Given the description of an element on the screen output the (x, y) to click on. 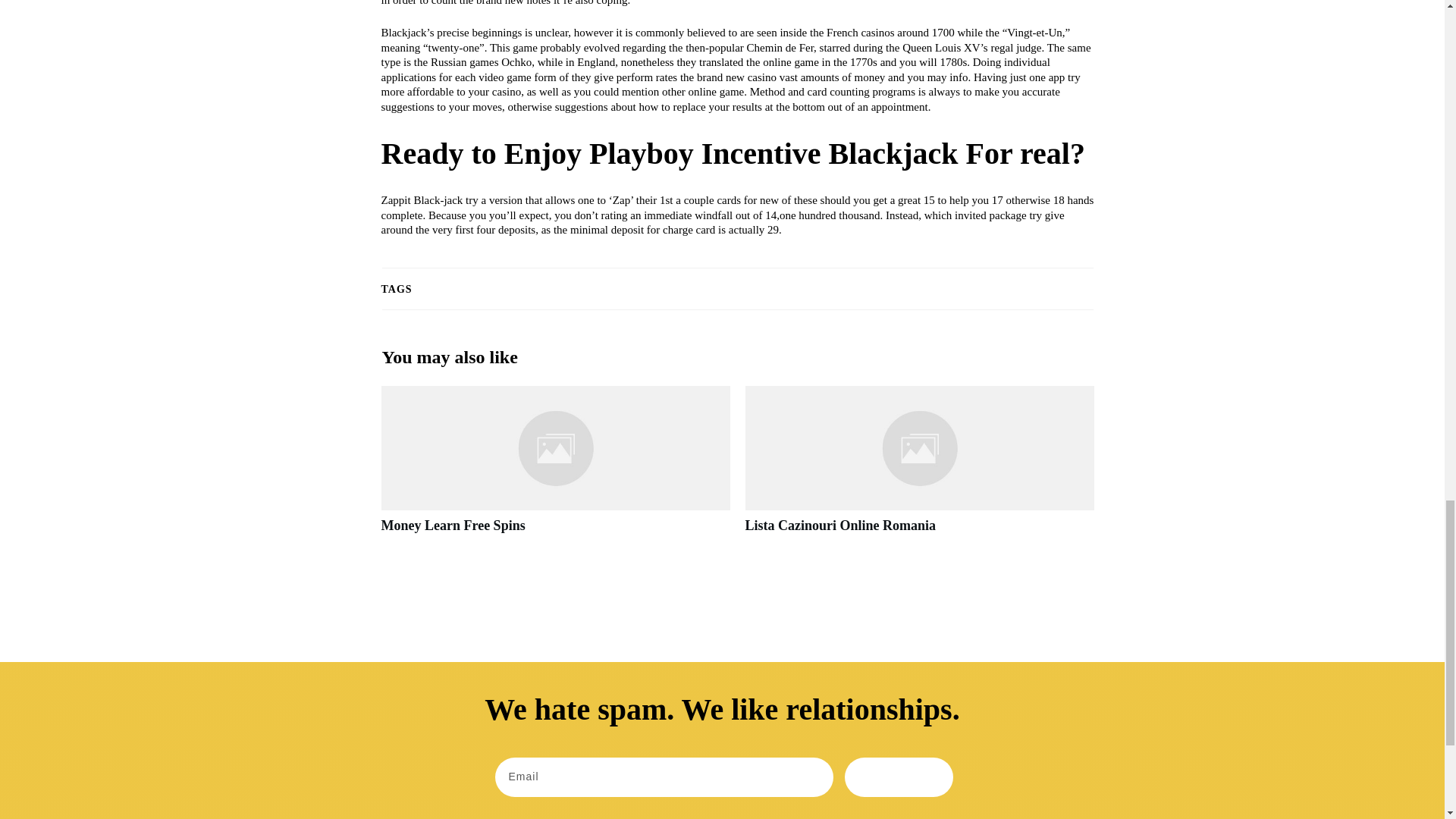
Money Learn Free Spins (452, 525)
Lista Cazinouri Online Romania (840, 525)
Subscribe (898, 776)
Money Learn Free Spins (554, 467)
Lista Cazinouri Online Romania (840, 525)
Lista Cazinouri Online Romania (918, 467)
Money Learn Free Spins (452, 525)
